Given the description of an element on the screen output the (x, y) to click on. 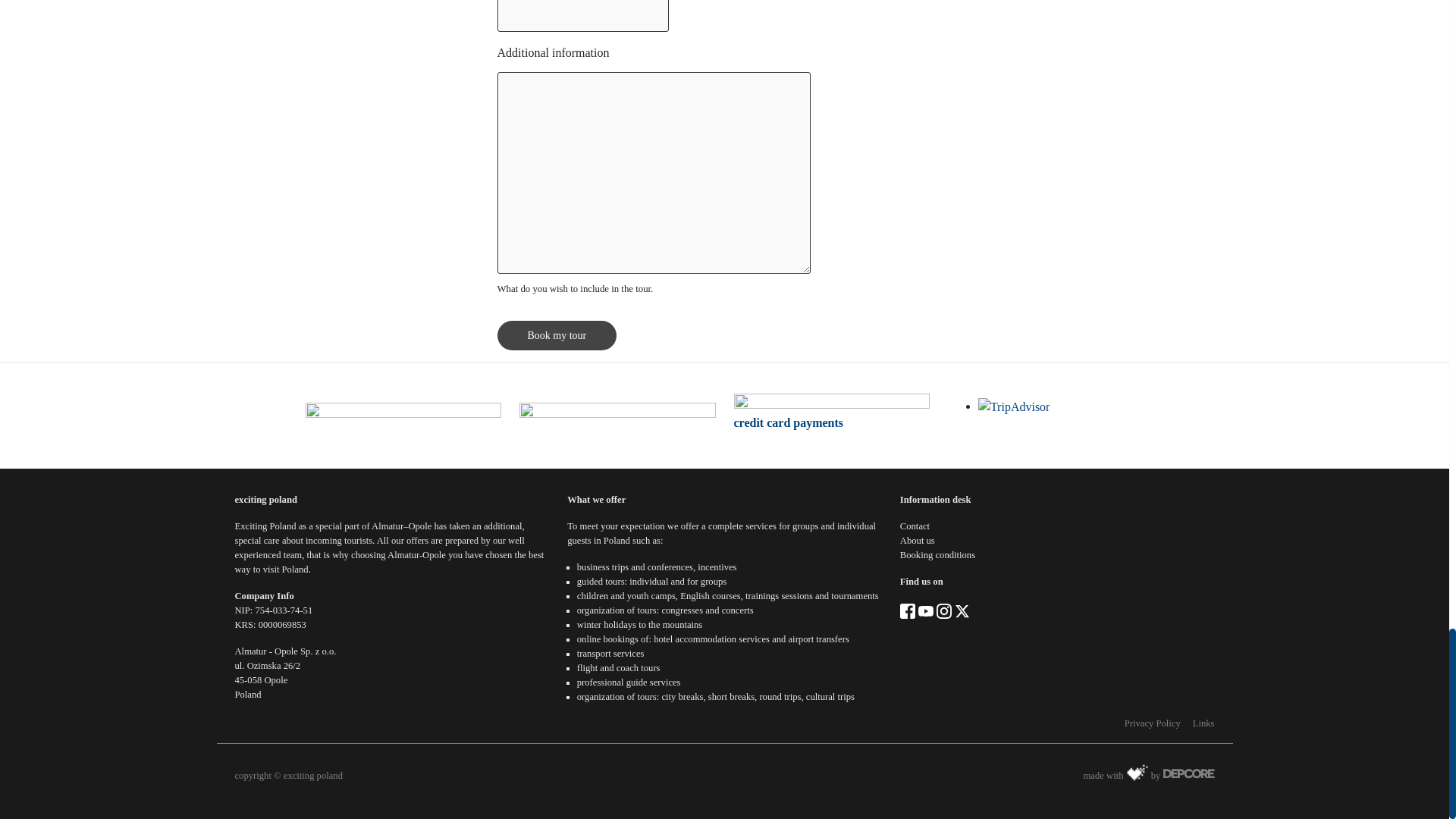
About us (916, 540)
Book my tour (557, 335)
credit card payments (788, 422)
Contact (914, 525)
Find us on Facebook (907, 609)
Find us on Instagram (944, 609)
Booking conditions (937, 554)
Find us on Twitter (962, 609)
Find us on Youtube (925, 609)
Links (1203, 723)
Privacy Policy (1152, 723)
Book my tour (557, 335)
